Given the description of an element on the screen output the (x, y) to click on. 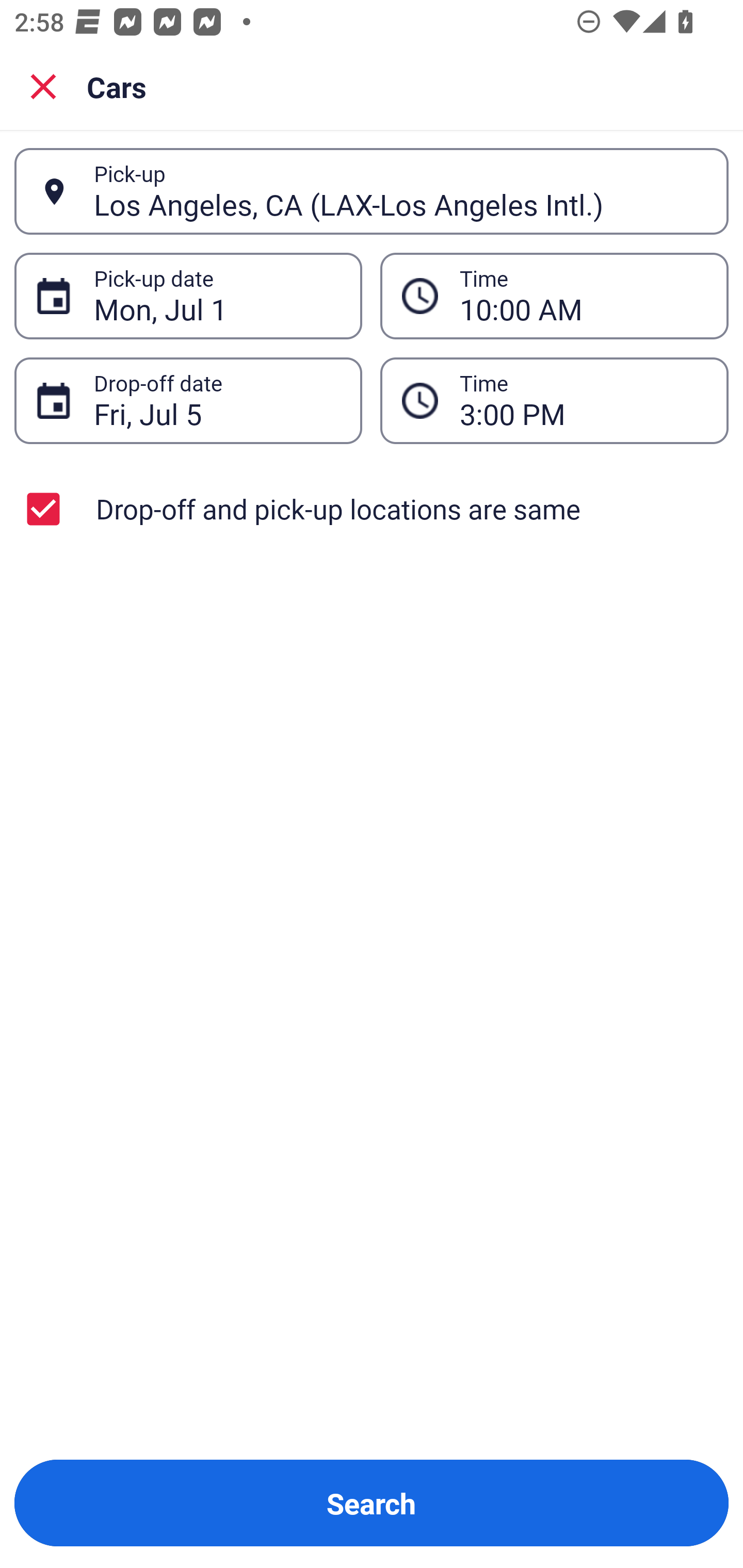
Close search screen (43, 86)
Los Angeles, CA (LAX-Los Angeles Intl.) Pick-up (371, 191)
Los Angeles, CA (LAX-Los Angeles Intl.) (399, 191)
Mon, Jul 1 Pick-up date (188, 295)
10:00 AM (554, 295)
Mon, Jul 1 (216, 296)
10:00 AM (582, 296)
Fri, Jul 5 Drop-off date (188, 400)
3:00 PM (554, 400)
Fri, Jul 5 (216, 400)
3:00 PM (582, 400)
Drop-off and pick-up locations are same (371, 508)
Search Button Search (371, 1502)
